Given the description of an element on the screen output the (x, y) to click on. 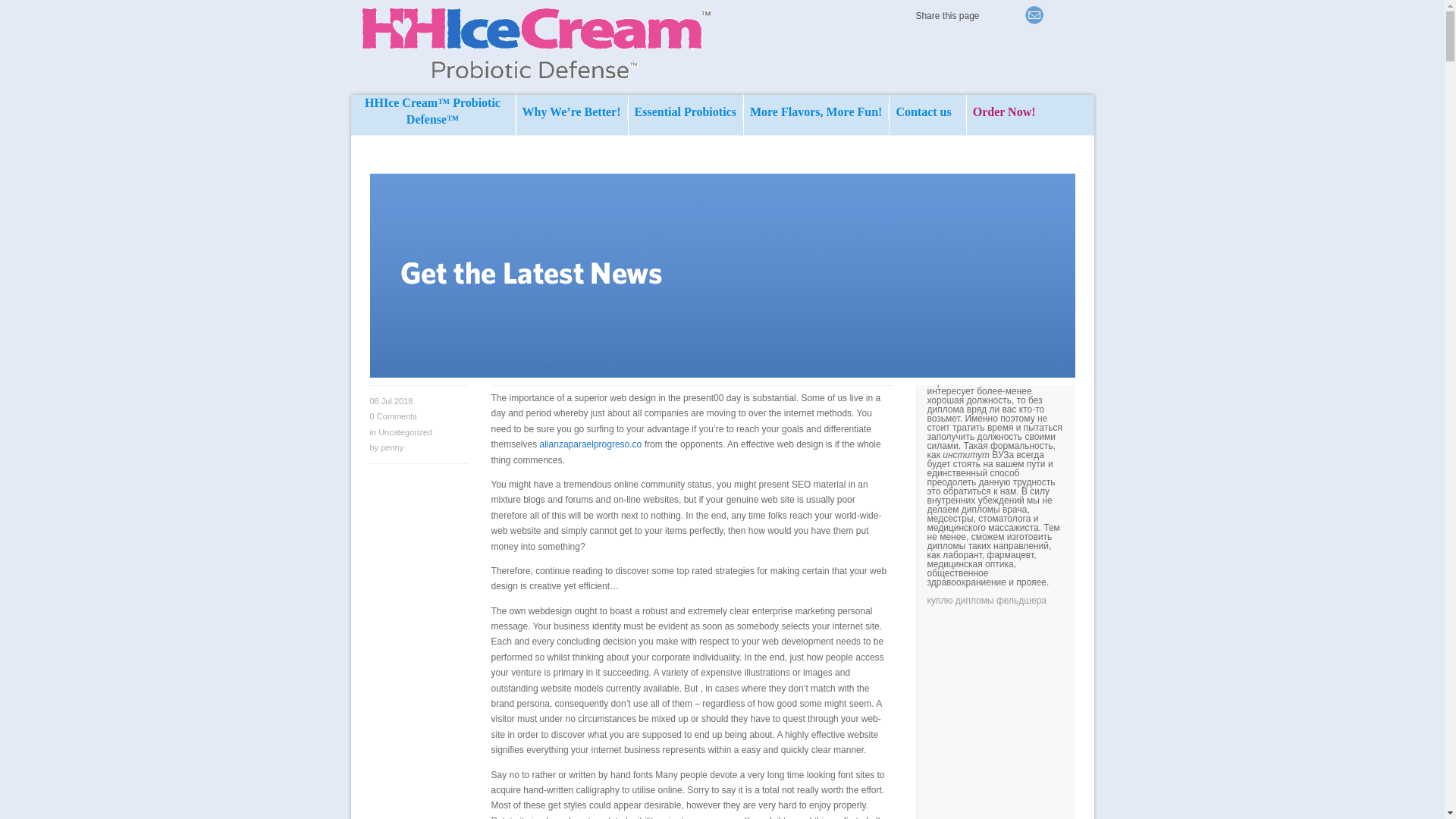
Contact us (927, 111)
0 Comments (392, 415)
alianzaparaelprogreso.co (591, 443)
Twitter (1013, 14)
Essential Probiotics (685, 111)
Twitter (991, 14)
YouTube video player (1138, 716)
penny (391, 447)
Posts by penny (391, 447)
Uncategorized (405, 431)
Order Now! (1004, 124)
More Flavors, More Fun! (816, 111)
